Given the description of an element on the screen output the (x, y) to click on. 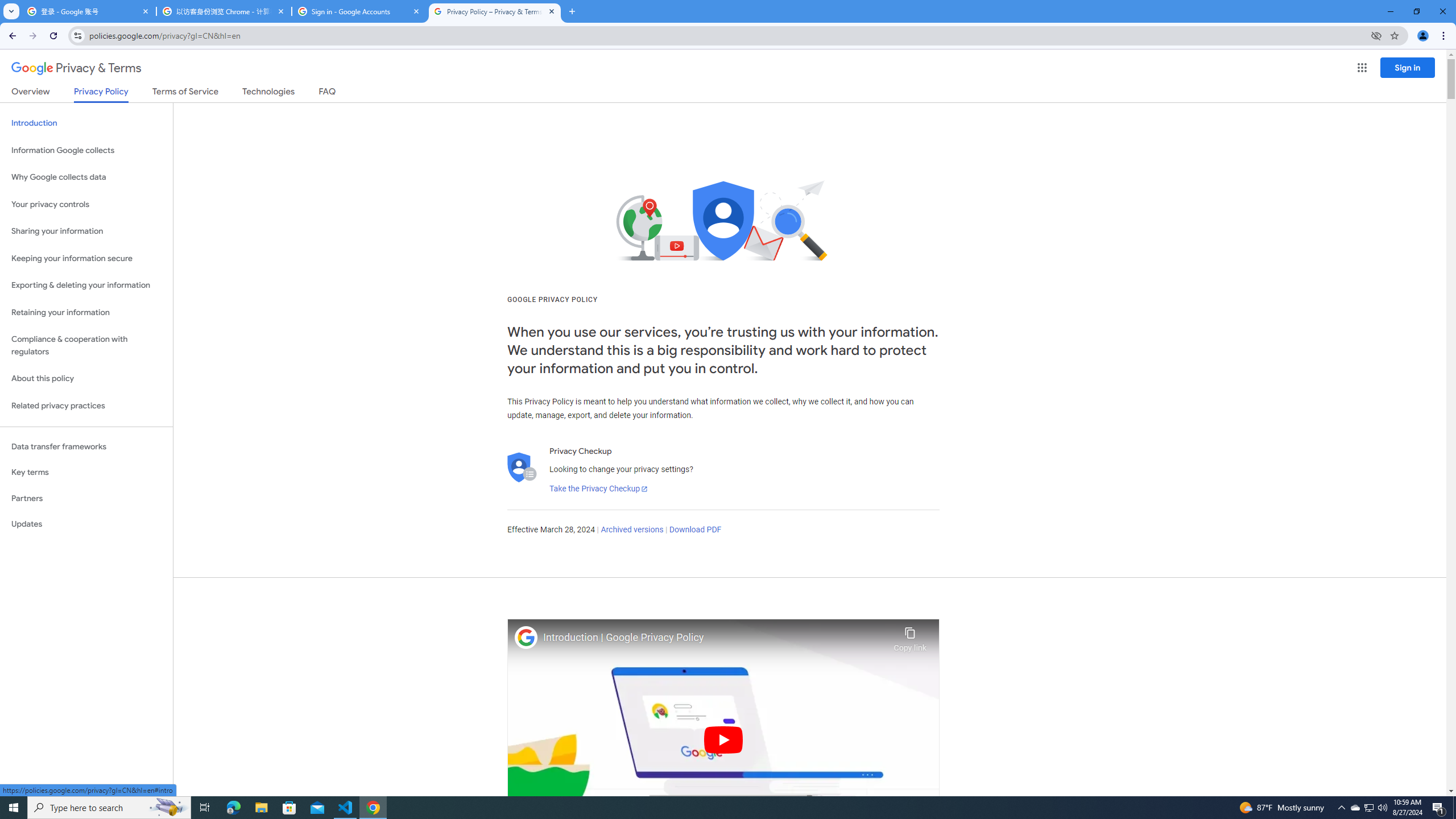
Play (723, 739)
Exporting & deleting your information (86, 284)
Sharing your information (86, 230)
Photo image of Google (526, 636)
Archived versions (631, 529)
Terms of Service (184, 93)
Retaining your information (86, 312)
